Given the description of an element on the screen output the (x, y) to click on. 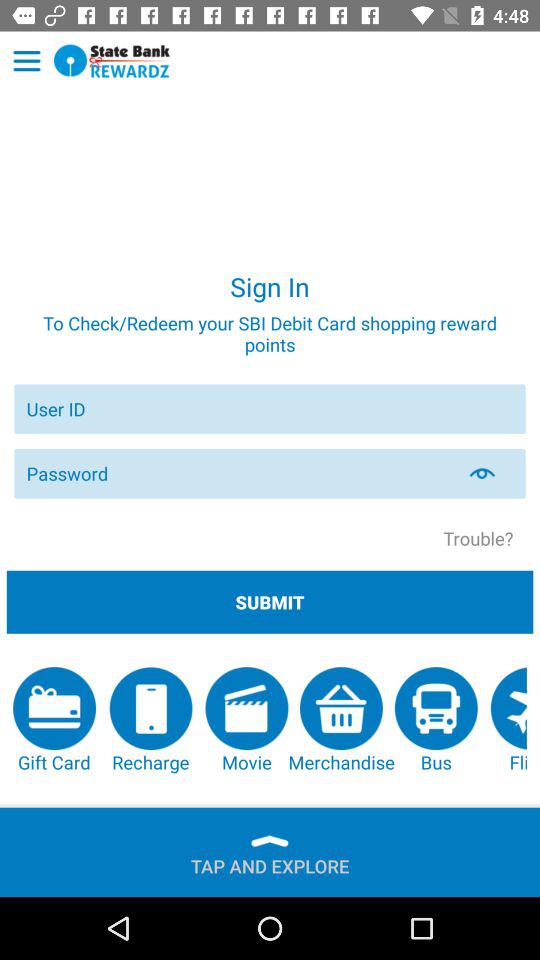
launch app next to movie app (341, 720)
